Given the description of an element on the screen output the (x, y) to click on. 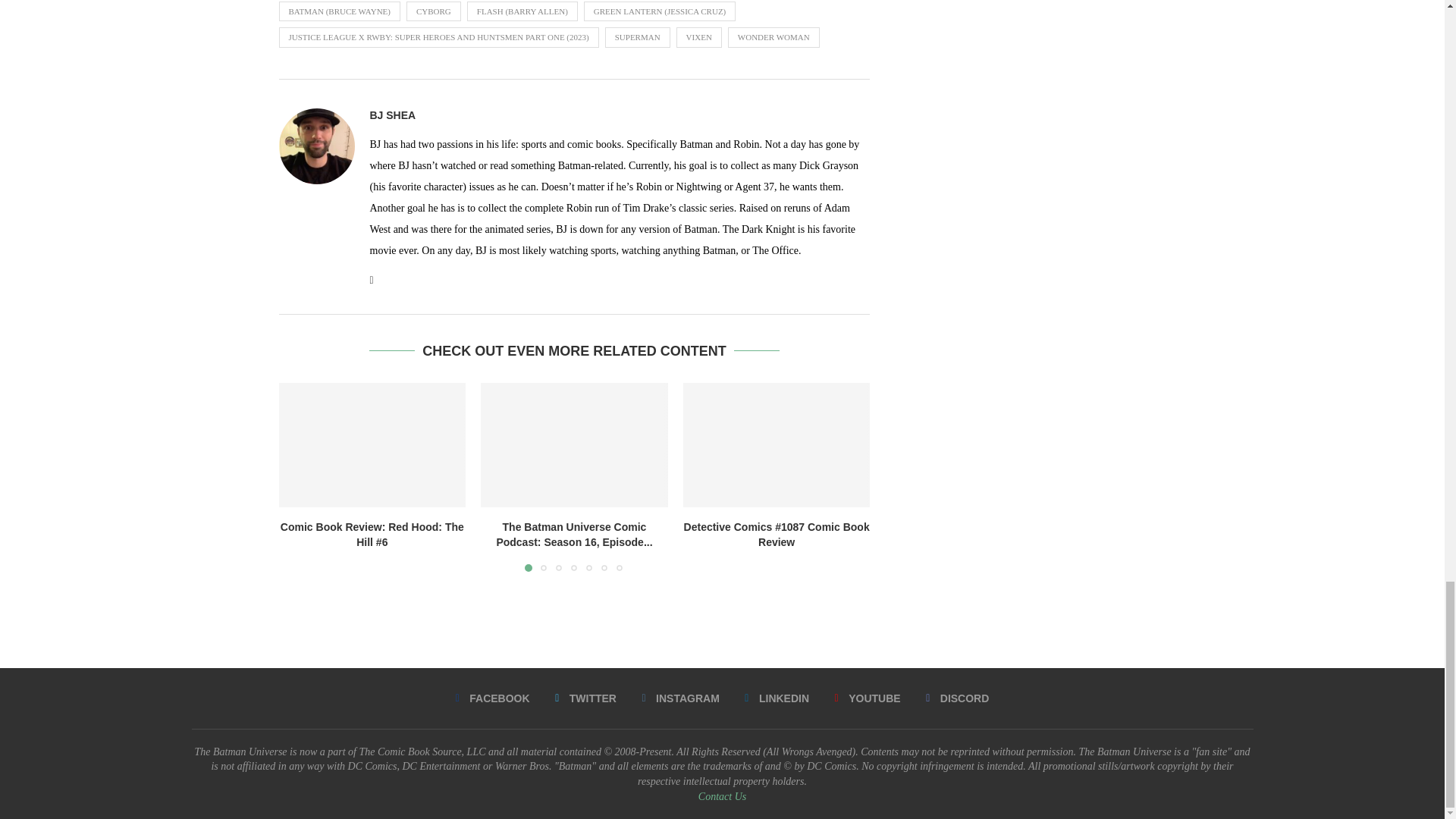
The Batman Universe Comic Podcast: Season 16, Episode 14 (574, 444)
Contact Us (721, 796)
Author BJ Shea (392, 115)
